Given the description of an element on the screen output the (x, y) to click on. 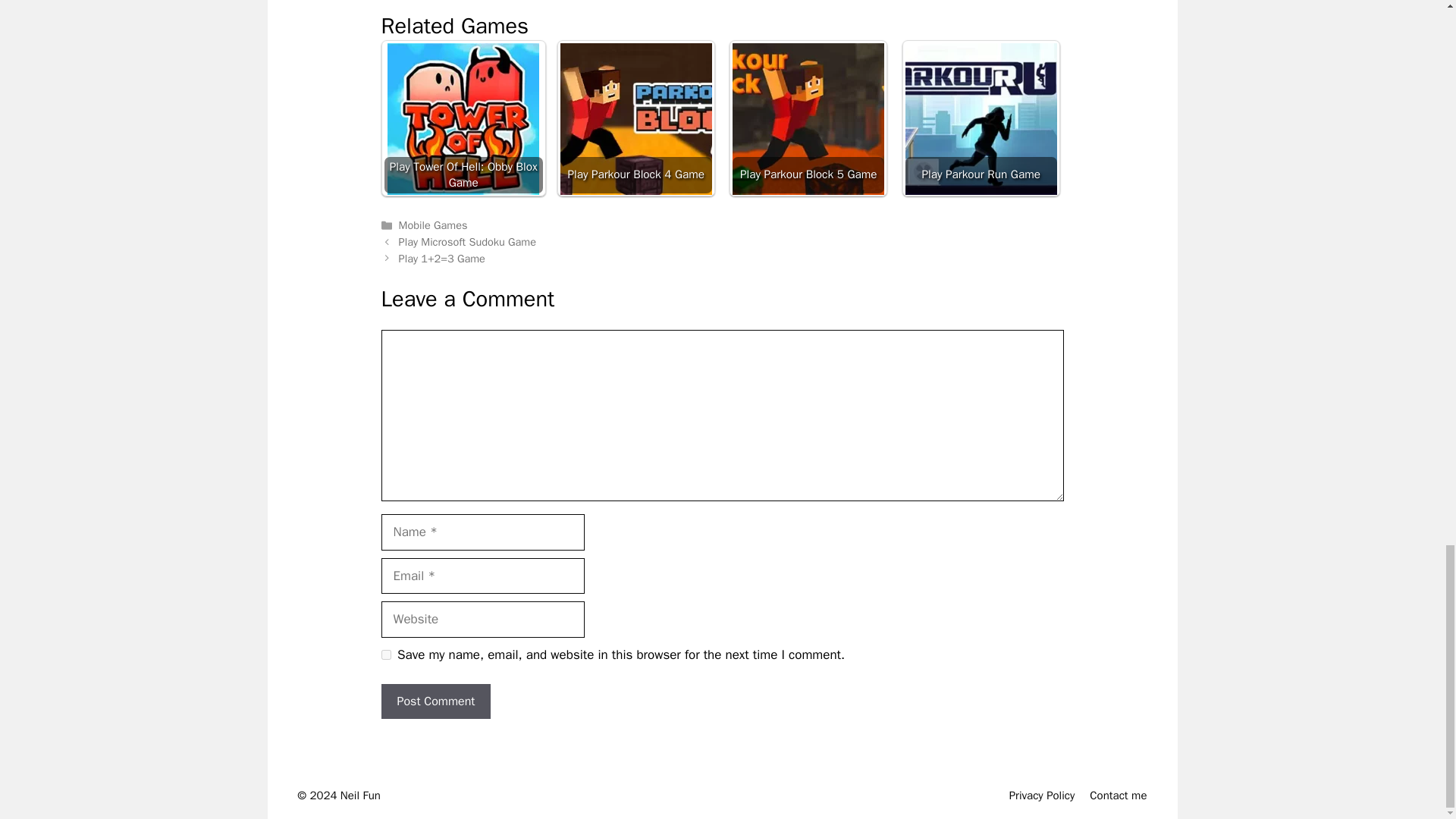
Post Comment (435, 701)
Play Parkour Block 4 Game (635, 117)
Copy Link (547, 0)
Play Parkour Block 4 Game (635, 118)
Mobile Games (432, 224)
Share (577, 0)
Play Parkour Run Game (981, 118)
Email (456, 0)
Facebook (395, 0)
Twitter (425, 0)
yes (385, 655)
Email (456, 0)
WhatsApp (517, 0)
Post Comment (435, 701)
Contact me (1118, 795)
